Given the description of an element on the screen output the (x, y) to click on. 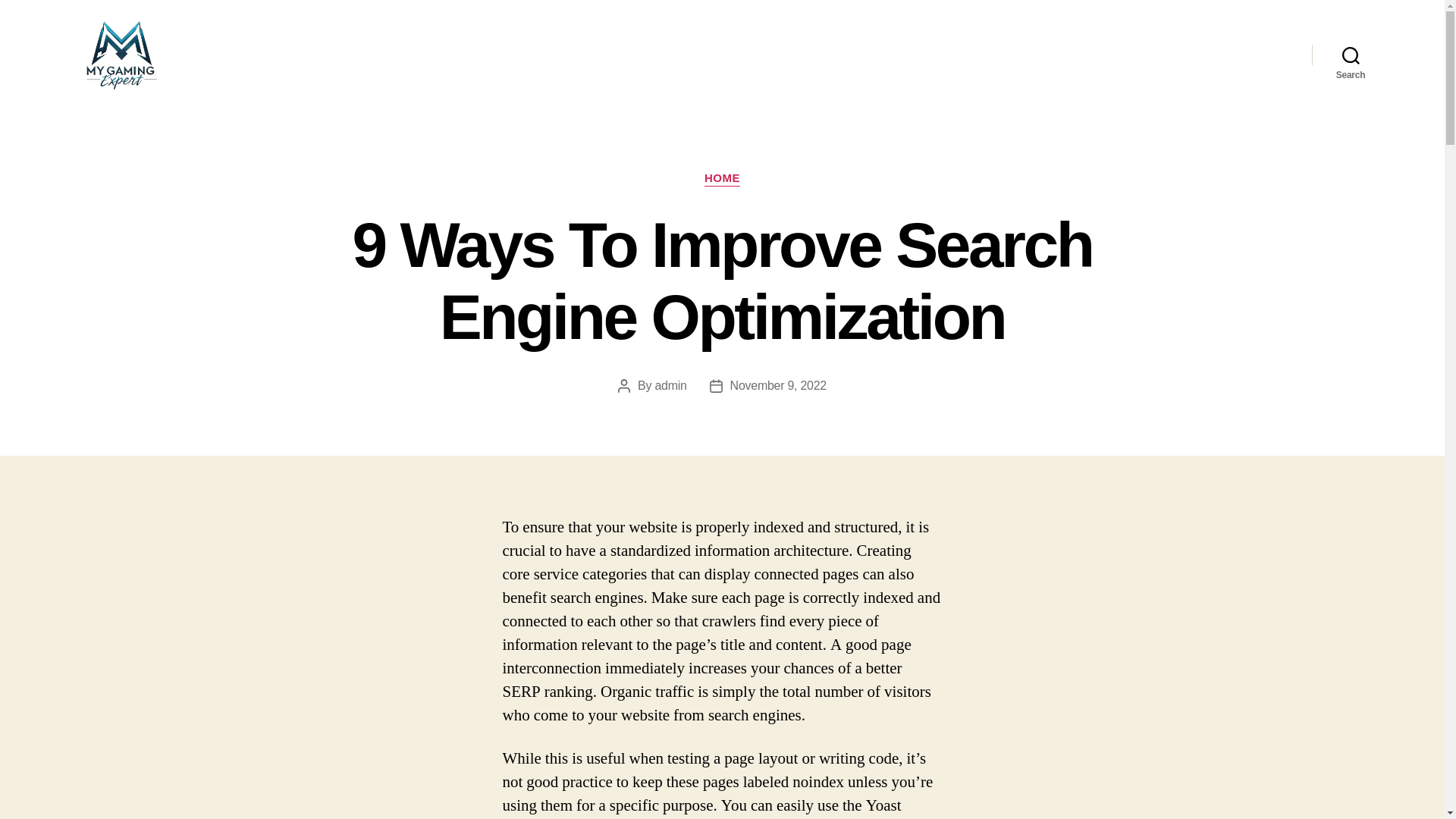
HOME (721, 178)
Search (1350, 55)
November 9, 2022 (778, 385)
admin (669, 385)
